Given the description of an element on the screen output the (x, y) to click on. 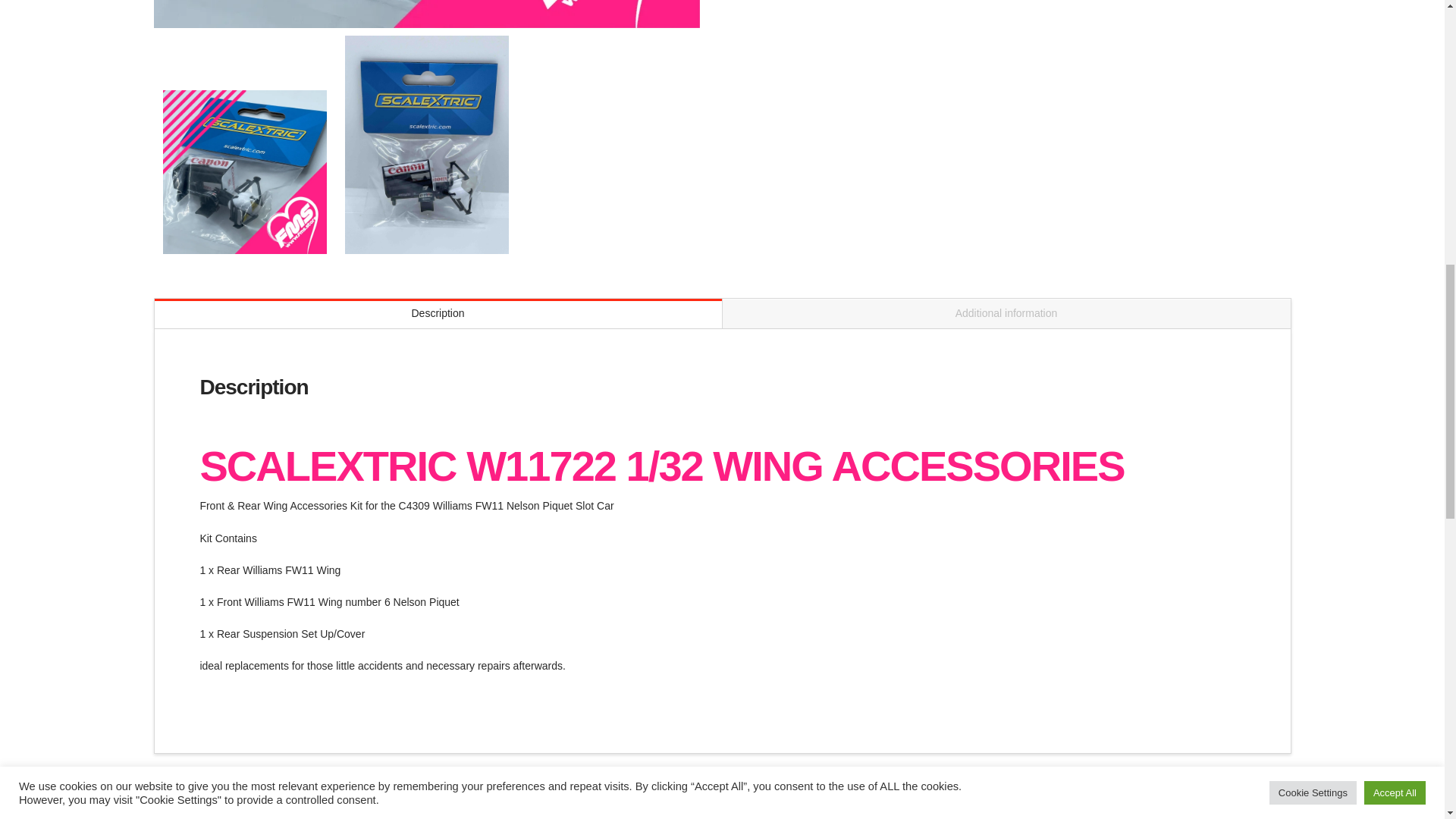
W11722 WEB EBAY (425, 13)
W11722 WEB EBAY (243, 171)
Description (438, 313)
Additional information (1006, 313)
